Given the description of an element on the screen output the (x, y) to click on. 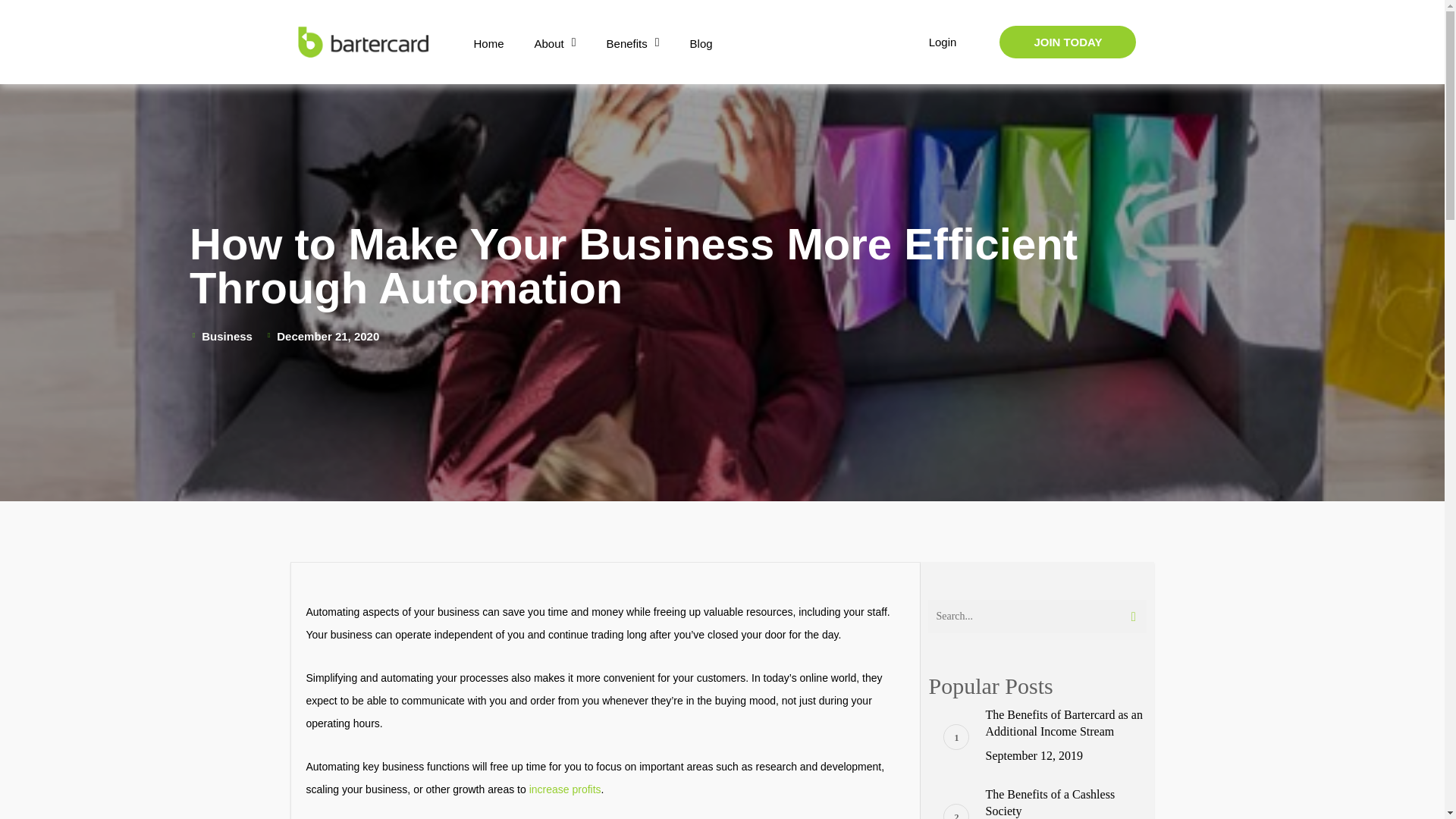
Home (488, 43)
Blog (701, 43)
Search for: (1037, 616)
Benefits (633, 43)
About (554, 43)
